Given the description of an element on the screen output the (x, y) to click on. 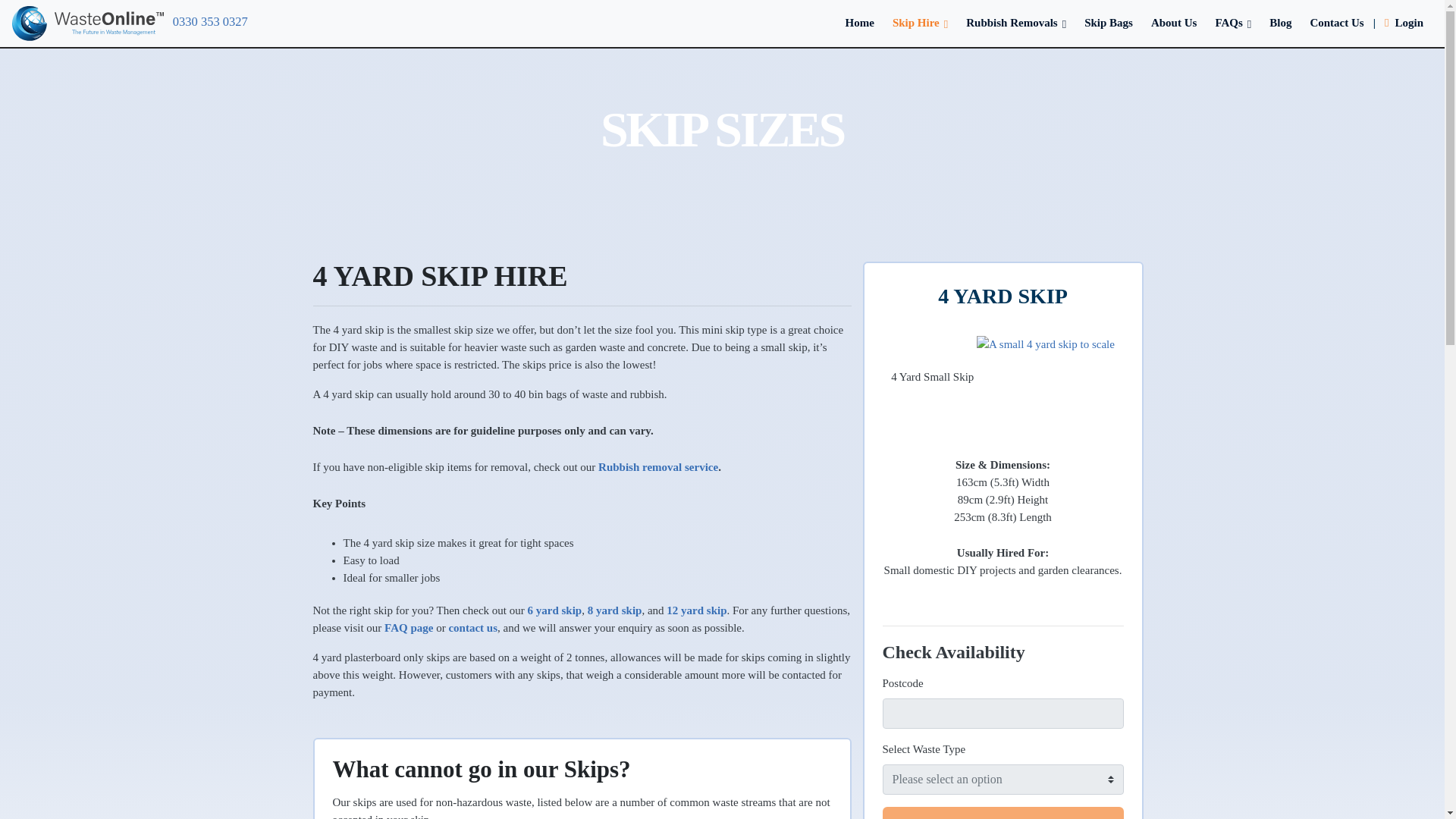
Rubbish Removals (1015, 22)
12 yard skip (696, 610)
Skip Hire (919, 22)
Login (1403, 22)
About Us (1173, 22)
8 yard skip (615, 610)
6 yard skip (554, 610)
contact us (472, 627)
Get Skip Price (1003, 812)
Blog (1280, 22)
